Given the description of an element on the screen output the (x, y) to click on. 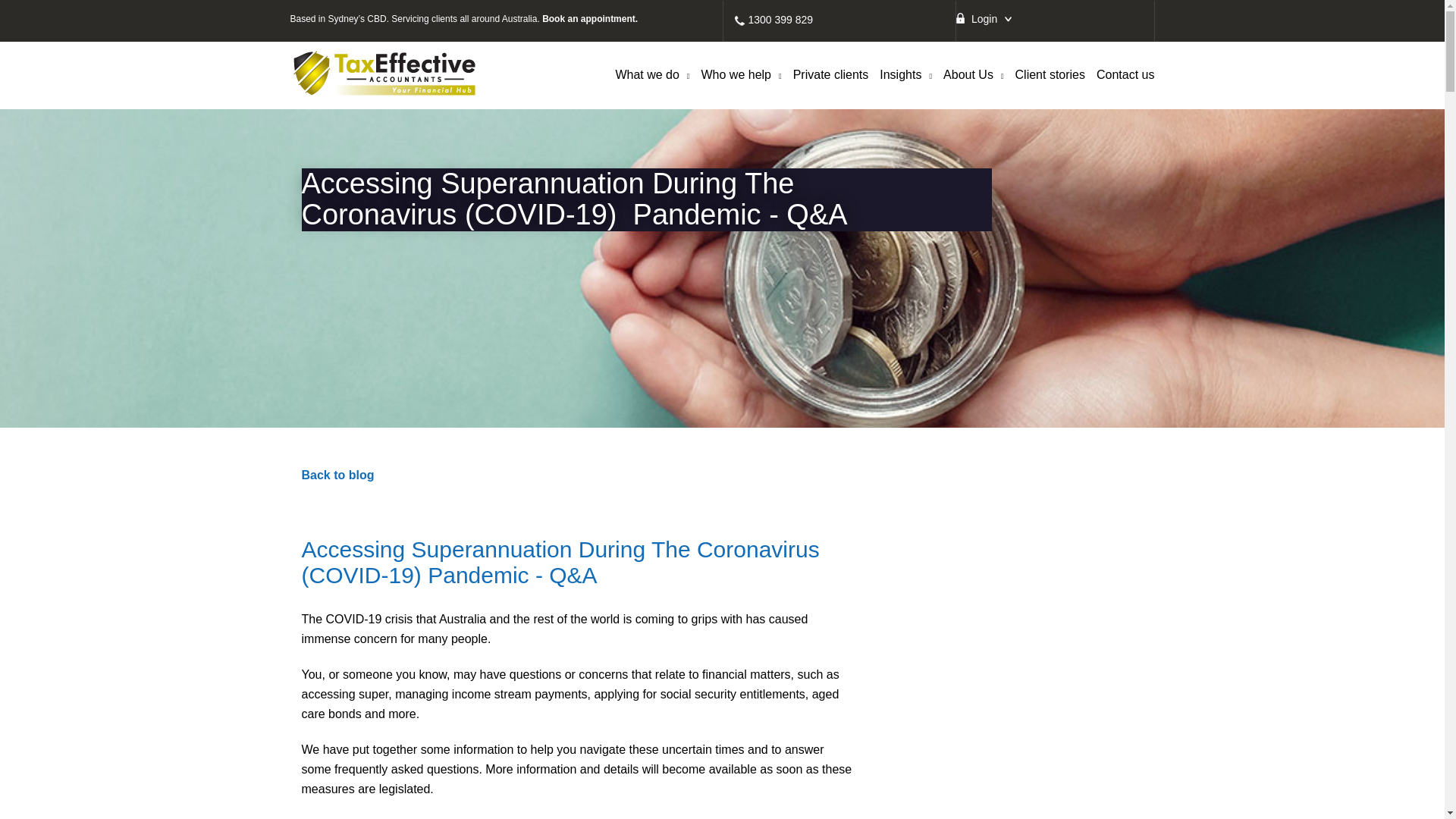
1300 399 829 (780, 19)
Make an appointment (589, 18)
Book an appointment. (589, 18)
Login (983, 13)
Tax Effective Accountants (383, 73)
What we do (651, 82)
